Given the description of an element on the screen output the (x, y) to click on. 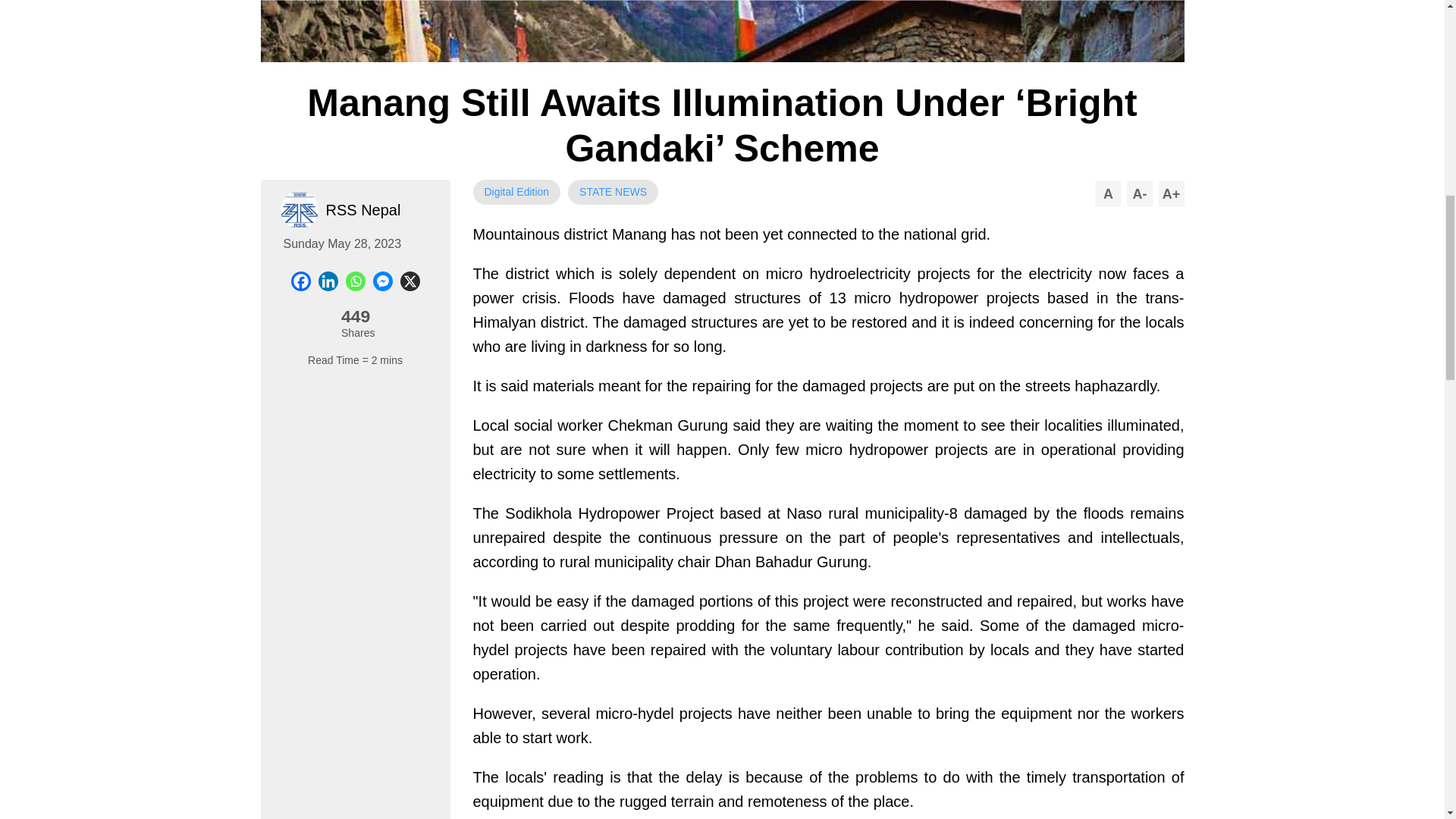
X (410, 281)
Decrease (1139, 193)
Total Shares (354, 320)
Linkedin (327, 281)
Reset (1107, 193)
Whatsapp (355, 281)
Facebook (301, 281)
